Given the description of an element on the screen output the (x, y) to click on. 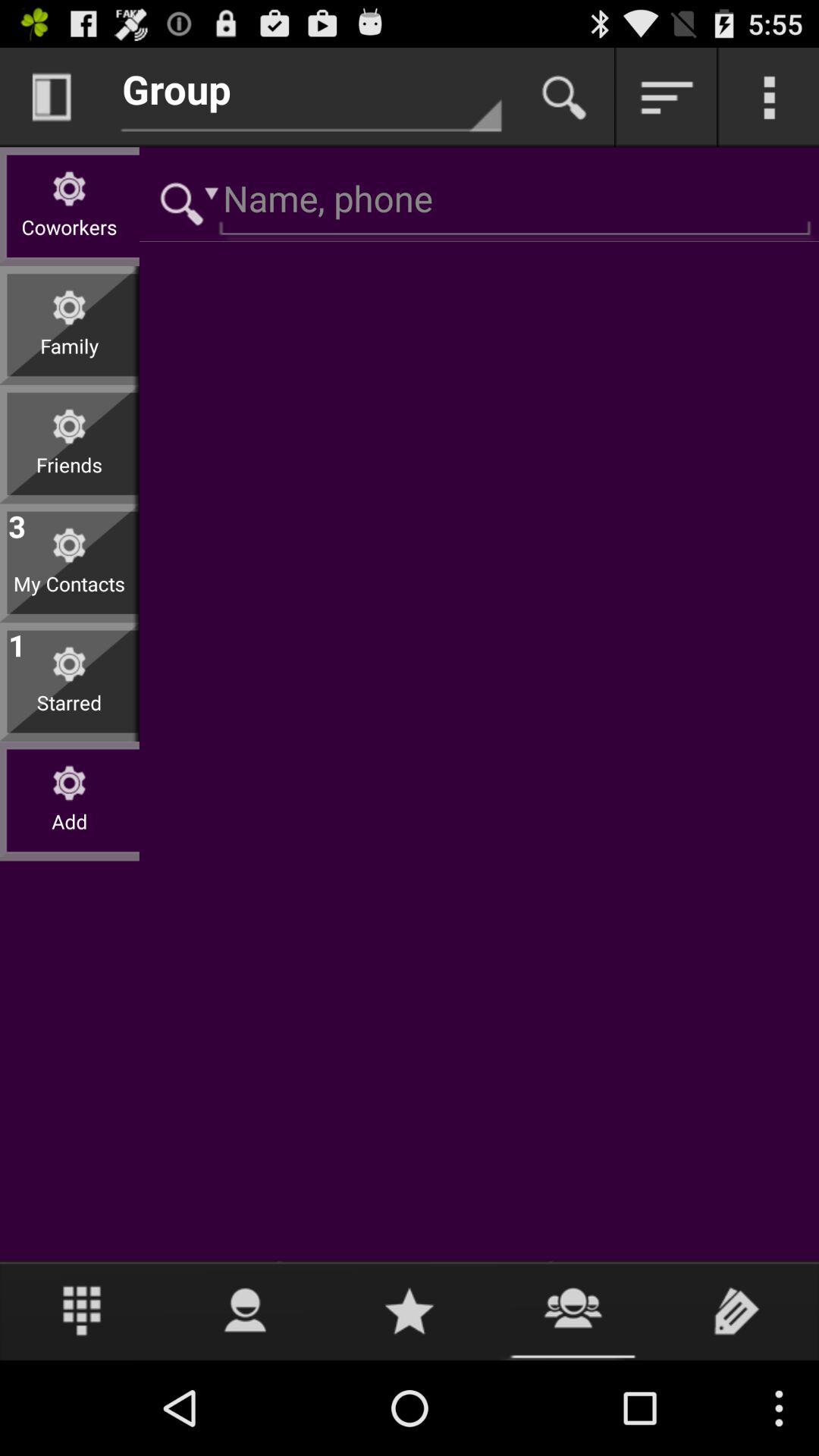
view favorites (409, 1310)
